Given the description of an element on the screen output the (x, y) to click on. 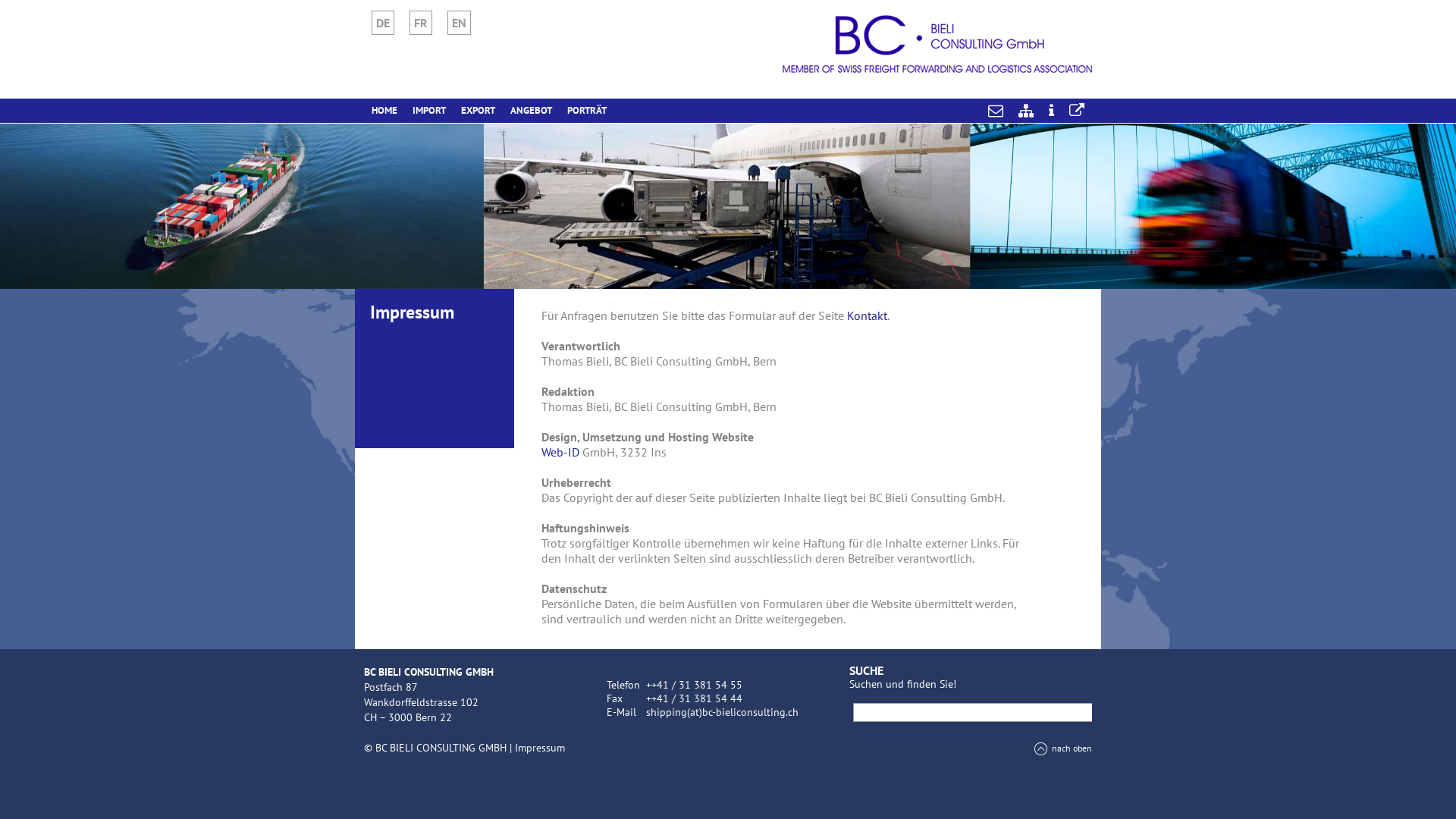
DE Element type: text (382, 22)
Suche Element type: text (37, 8)
Links Element type: hover (1076, 110)
Impressum Element type: text (539, 747)
EN Element type: text (458, 22)
HOME Element type: text (384, 110)
Kontakt Element type: text (867, 315)
Kontakt Element type: hover (995, 110)
BC BIELI CONSULTING GMBH Element type: hover (937, 43)
Impressum Element type: hover (1051, 110)
Sitemap Element type: hover (1025, 110)
ANGEBOT Element type: text (530, 110)
nach oben Element type: text (1063, 747)
EXPORT Element type: text (477, 110)
FR Element type: text (420, 22)
shipping(at)bc-bieliconsulting.ch Element type: text (722, 711)
IMPORT Element type: text (428, 110)
Web-ID Element type: text (560, 451)
